Given the description of an element on the screen output the (x, y) to click on. 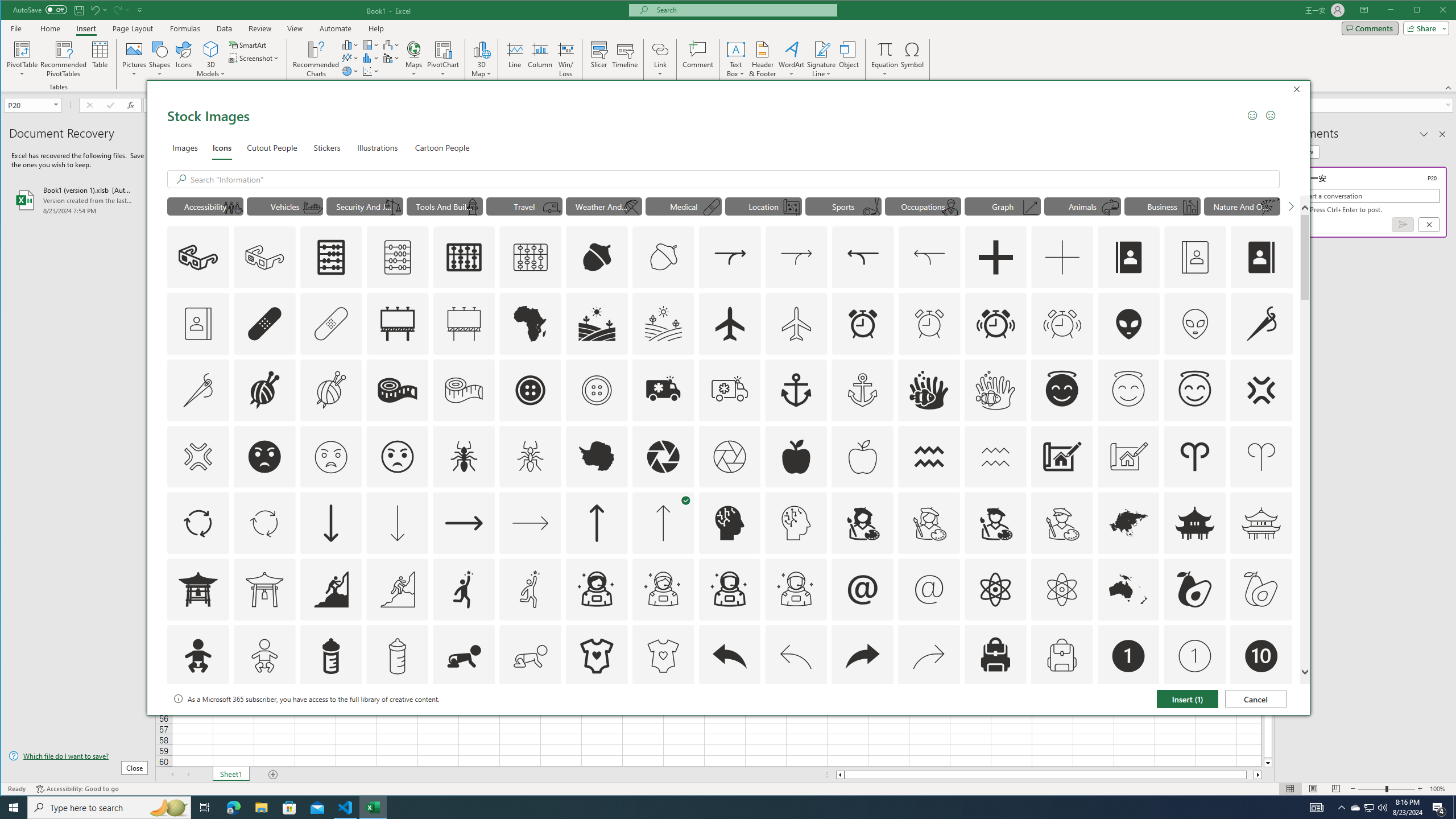
"Location" Icons. (763, 206)
Insert Pie or Doughnut Chart (350, 70)
AutomationID: Icons_ArtistFemale_M (928, 522)
Notification Chevron (1341, 807)
AutomationID: Icons_AlterationsTailoring1_M (330, 389)
"Accessibility" Icons. (205, 206)
Table (100, 59)
Header & Footer... (762, 59)
Comment (697, 59)
Symbol... (912, 59)
